Given the description of an element on the screen output the (x, y) to click on. 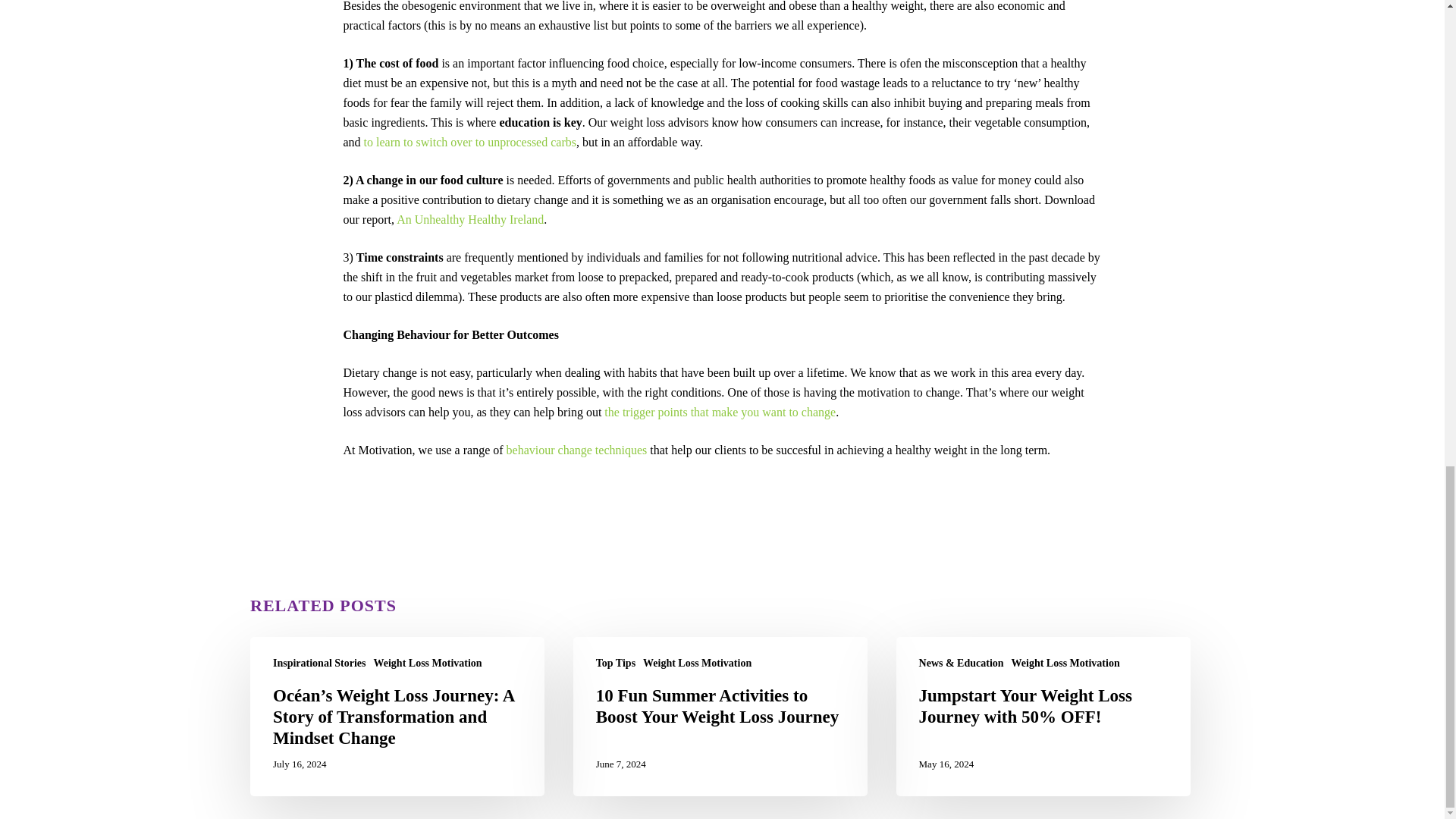
to learn to switch over to unprocessed carbs (470, 141)
Inspirational Stories (319, 663)
Weight Loss Motivation (427, 663)
behaviour change techniques (576, 449)
An Unhealthy Healthy Ireland (469, 219)
the trigger points that make you want to change (719, 411)
